Given the description of an element on the screen output the (x, y) to click on. 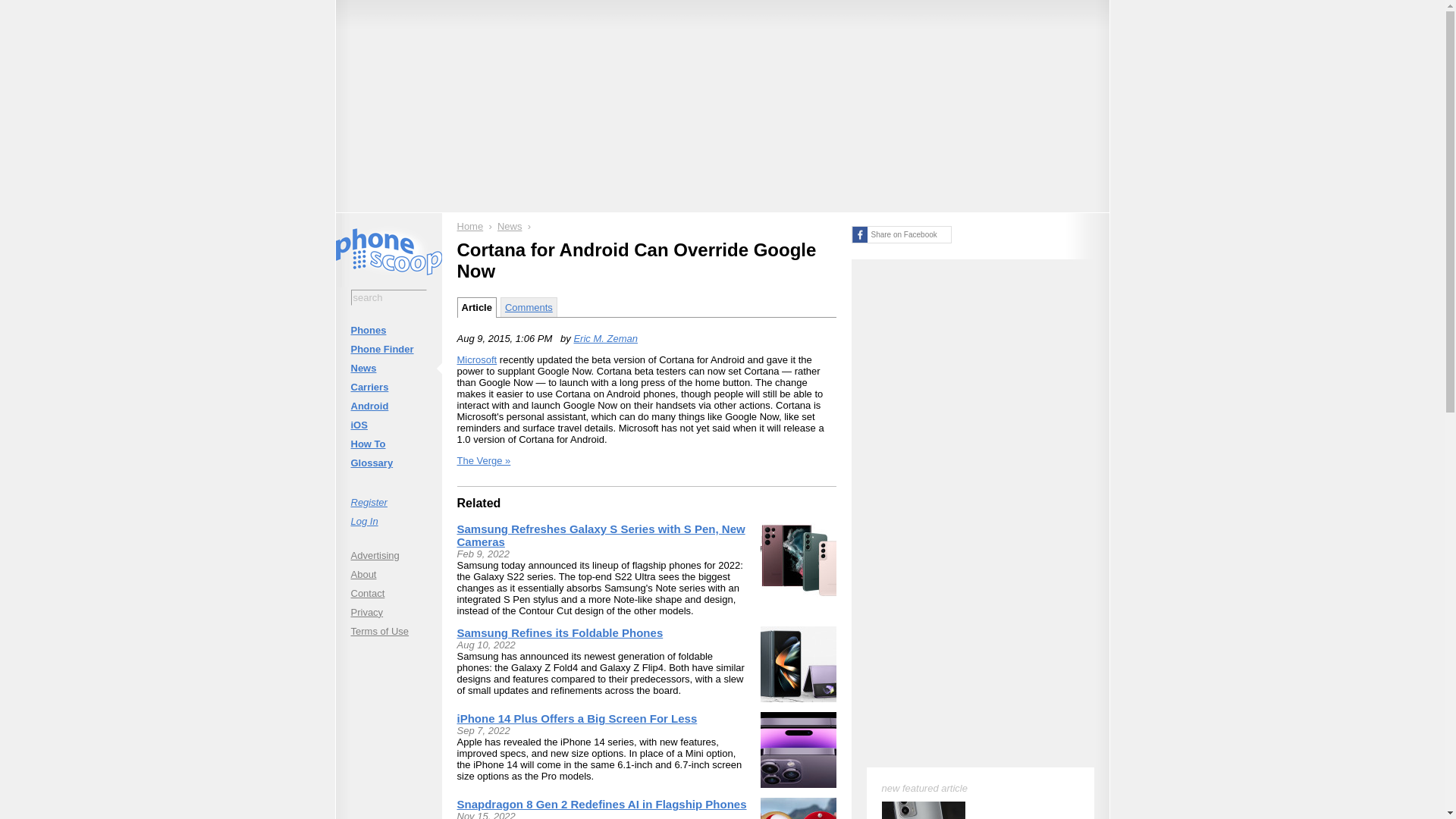
About (387, 573)
Home (470, 225)
Related (478, 502)
Share on Facebook (900, 234)
Contact (387, 592)
Microsoft (476, 359)
Carriers (387, 386)
search (388, 297)
Log In (387, 520)
Phone Finder (387, 348)
How To (387, 443)
Comments (528, 306)
iOS (387, 424)
News (509, 225)
Phones (387, 330)
